Given the description of an element on the screen output the (x, y) to click on. 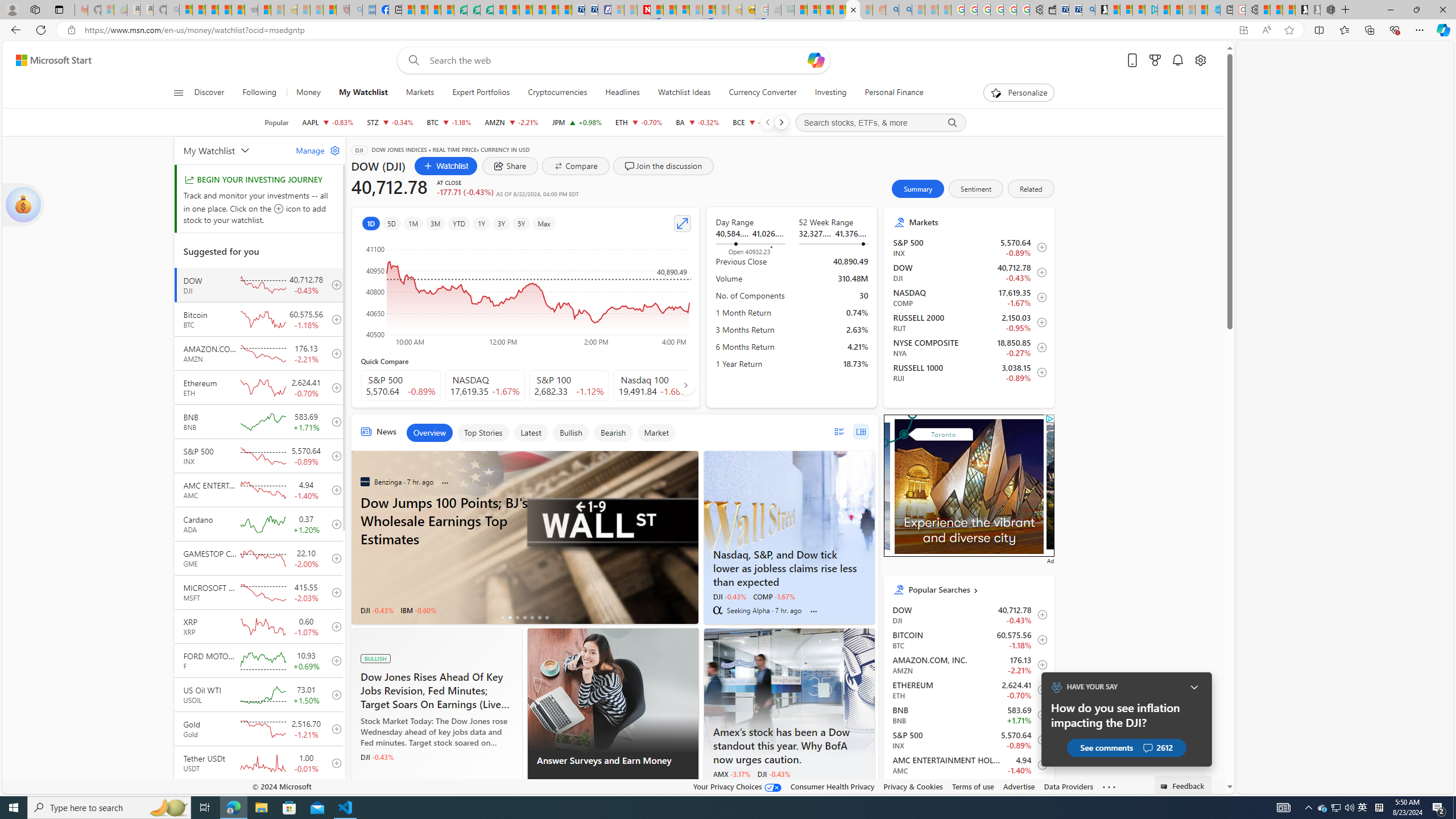
AutomationID: bg5 (1131, 485)
BTC Bitcoin decrease 60,575.56 -716.61 -1.18% itemundefined (968, 639)
